Given the description of an element on the screen output the (x, y) to click on. 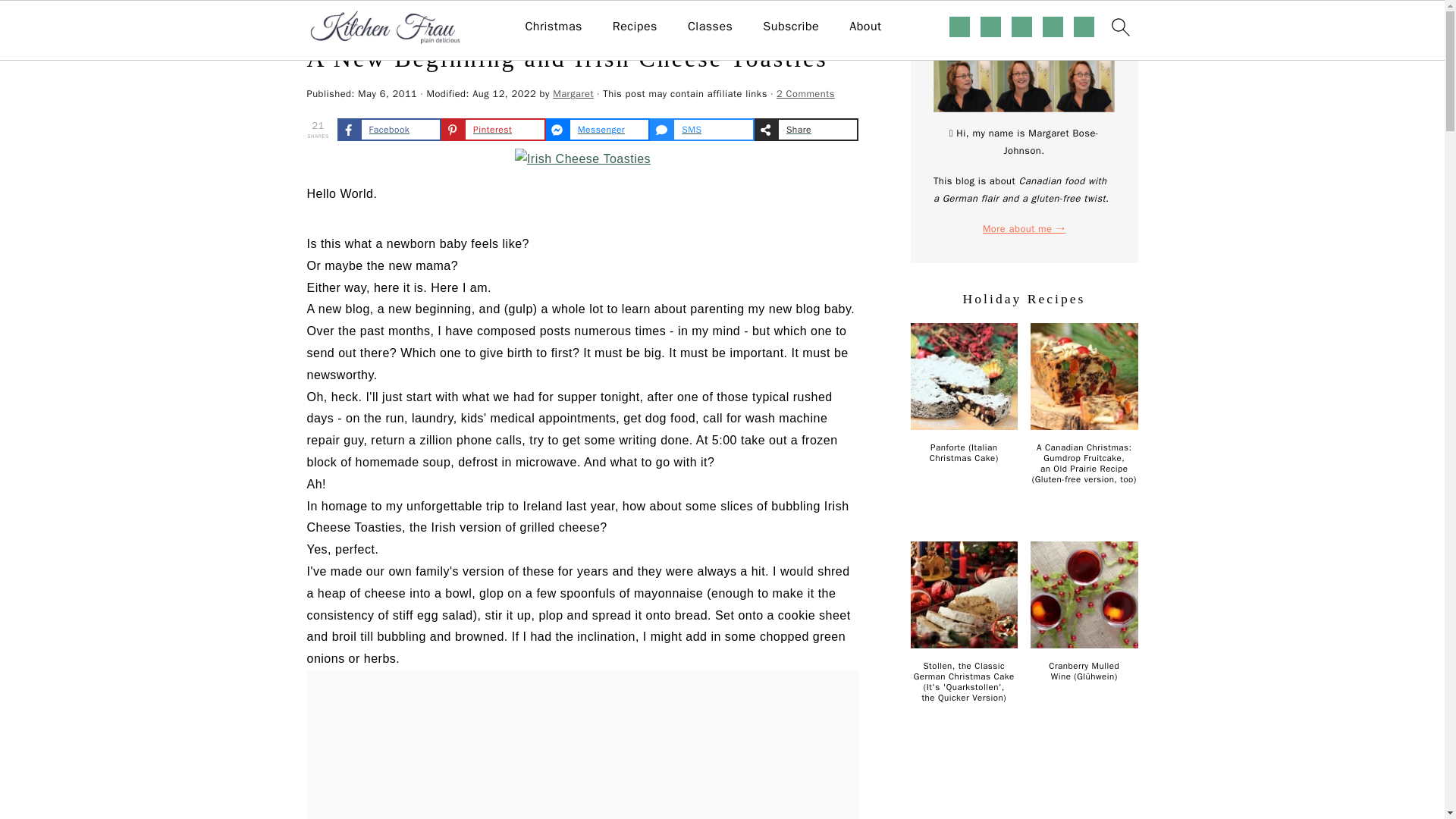
Subscribe (790, 26)
search icon (1119, 31)
Classes (709, 26)
search icon (1119, 26)
Home (319, 23)
About (864, 26)
Recipes (635, 26)
Christmas (552, 26)
